Given the description of an element on the screen output the (x, y) to click on. 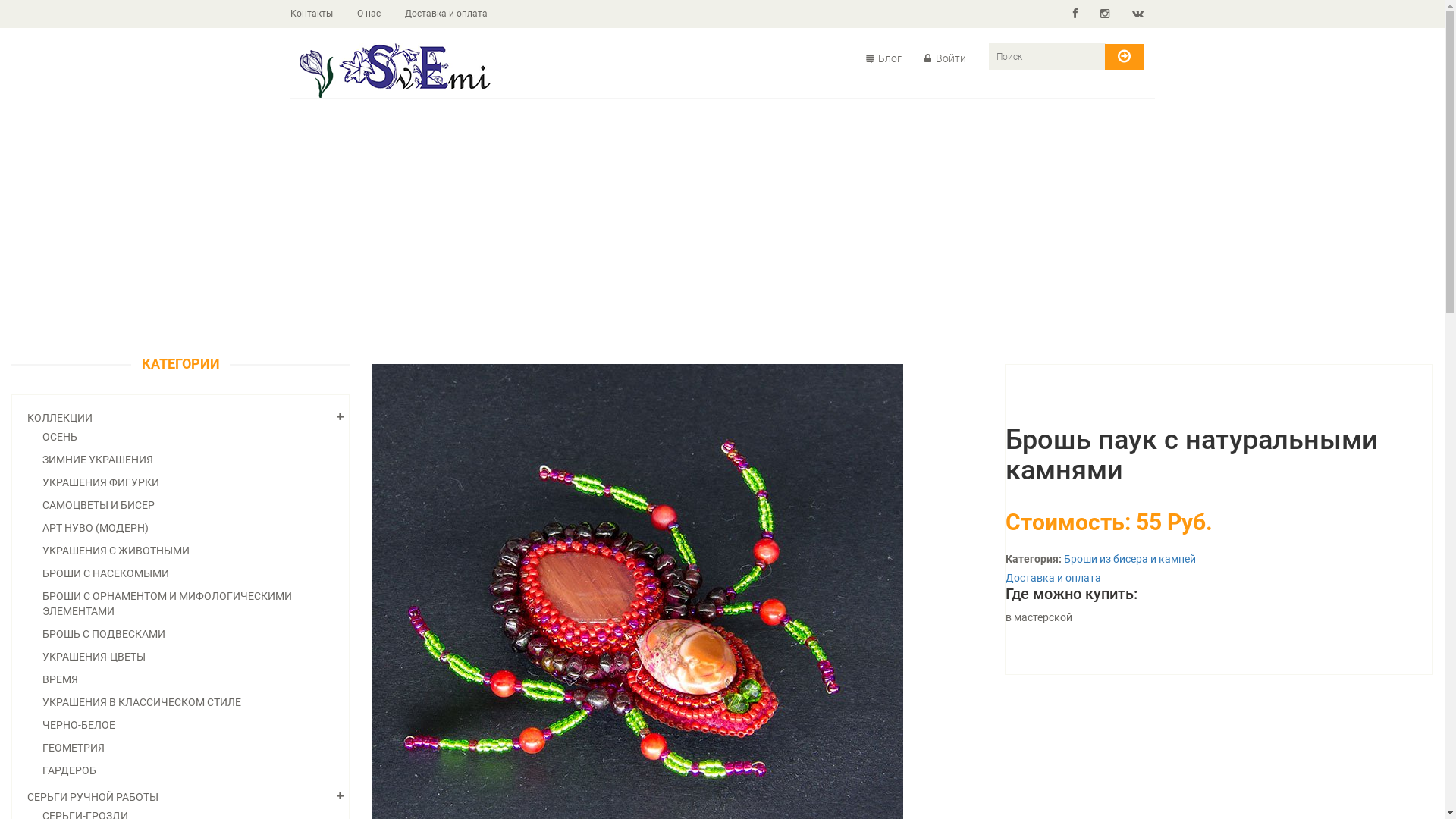
Advertisement Element type: hover (721, 227)
